Given the description of an element on the screen output the (x, y) to click on. 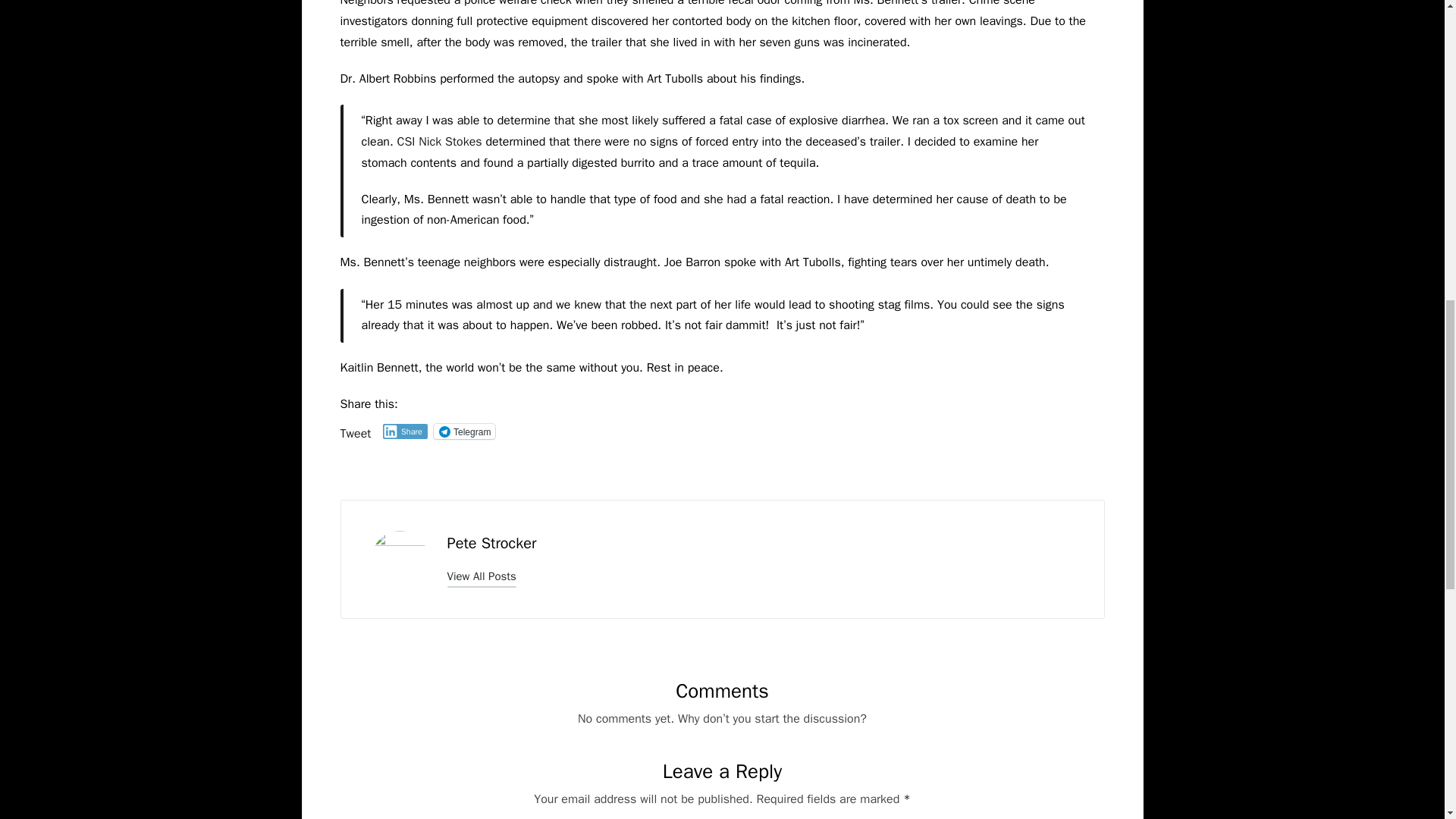
Telegram (464, 431)
Click to share on Telegram (464, 431)
Share (405, 431)
Pete Strocker (491, 542)
View All Posts (481, 576)
Tweet (355, 430)
CSI Nick Stokes (438, 141)
